Given the description of an element on the screen output the (x, y) to click on. 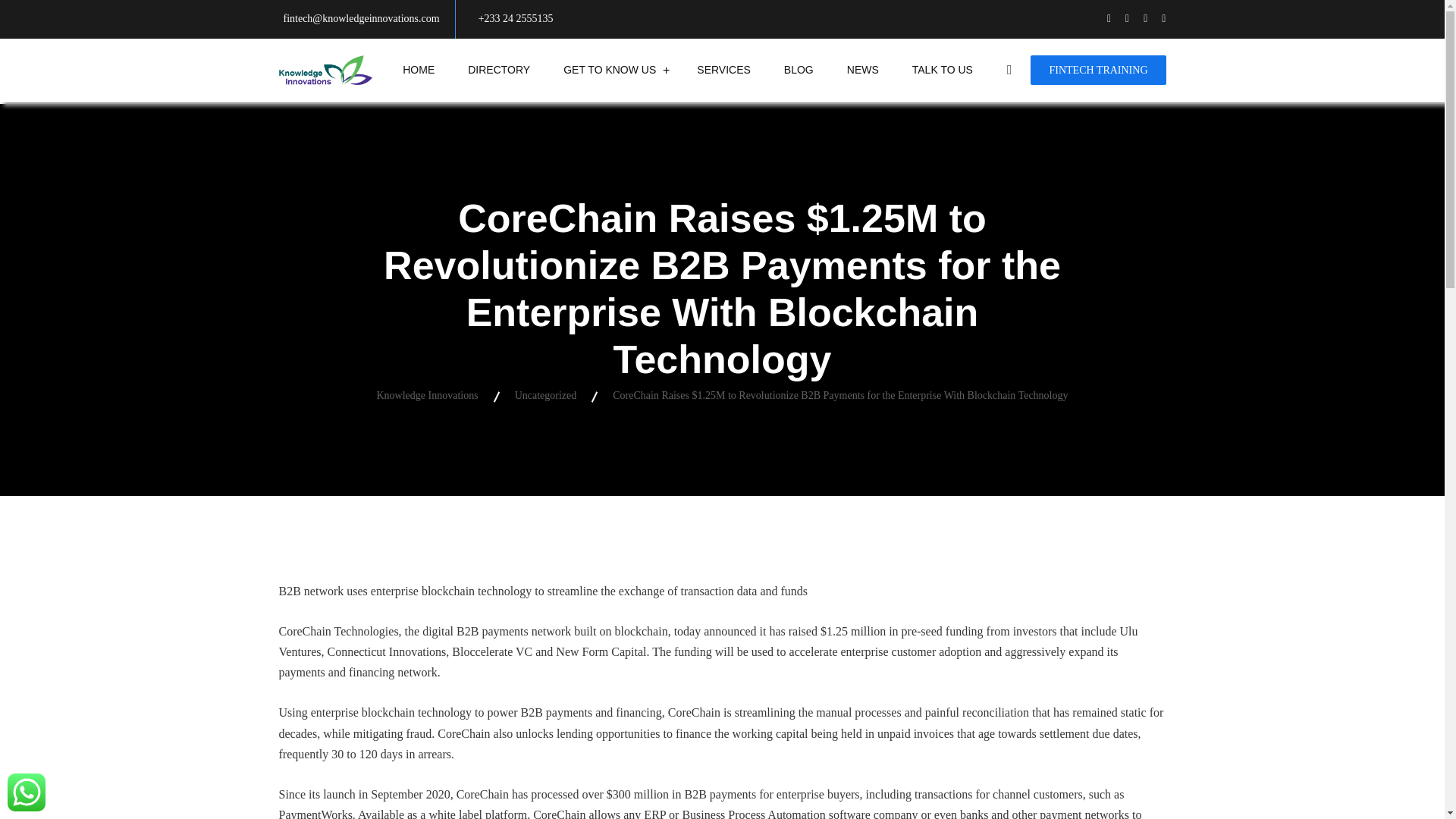
BLOG (798, 70)
DIRECTORY (498, 70)
SERVICES (723, 70)
HOME (418, 70)
Go to the Uncategorized category archives. (545, 395)
Go to Knowledge Innovations. (426, 395)
GET TO KNOW US (609, 70)
